Given the description of an element on the screen output the (x, y) to click on. 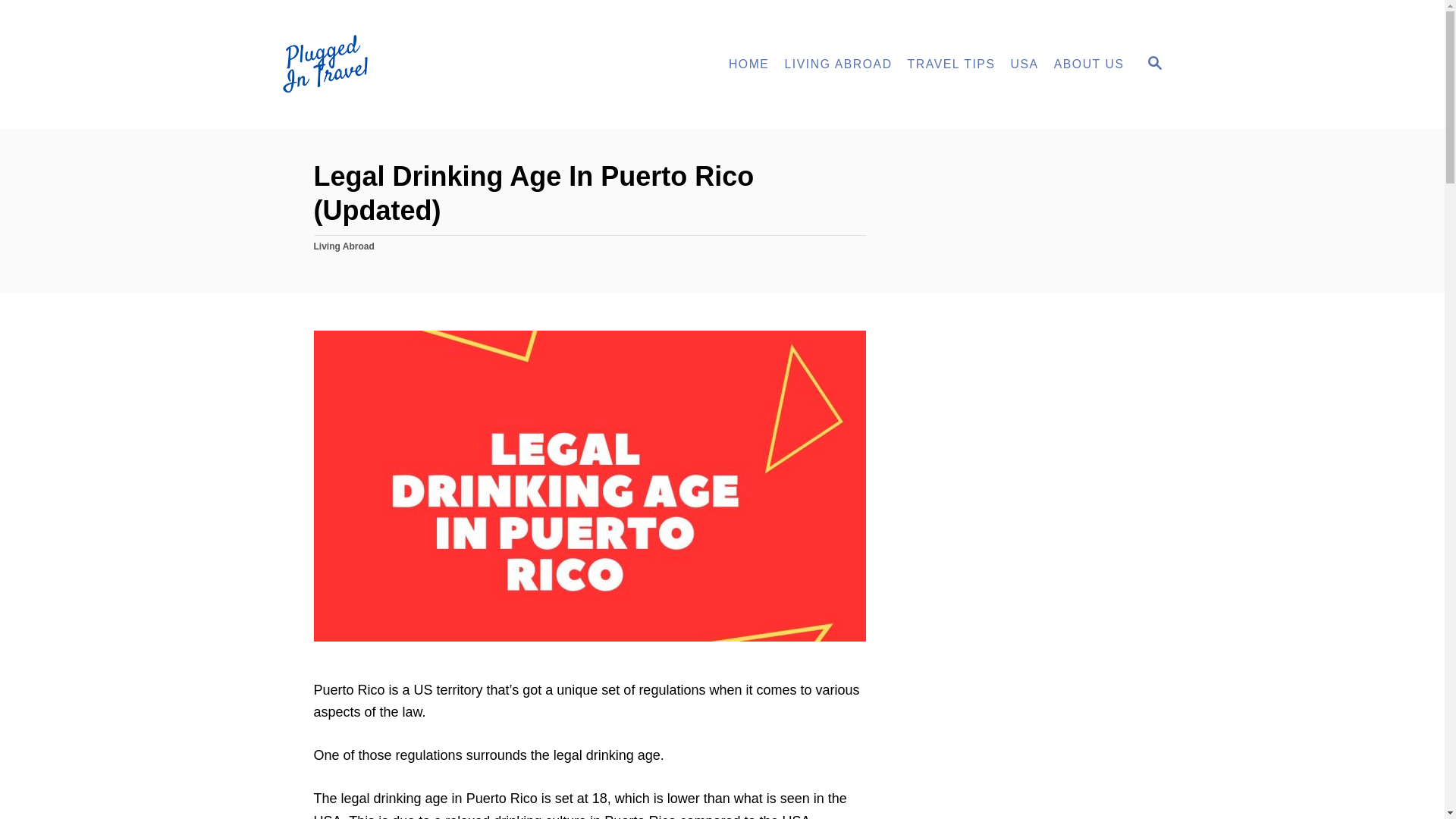
TRAVEL TIPS (951, 64)
LIVING ABROAD (837, 64)
Living Abroad (344, 245)
ABOUT US (1089, 64)
HOME (748, 64)
SEARCH (1153, 63)
USA (1024, 64)
